Given the description of an element on the screen output the (x, y) to click on. 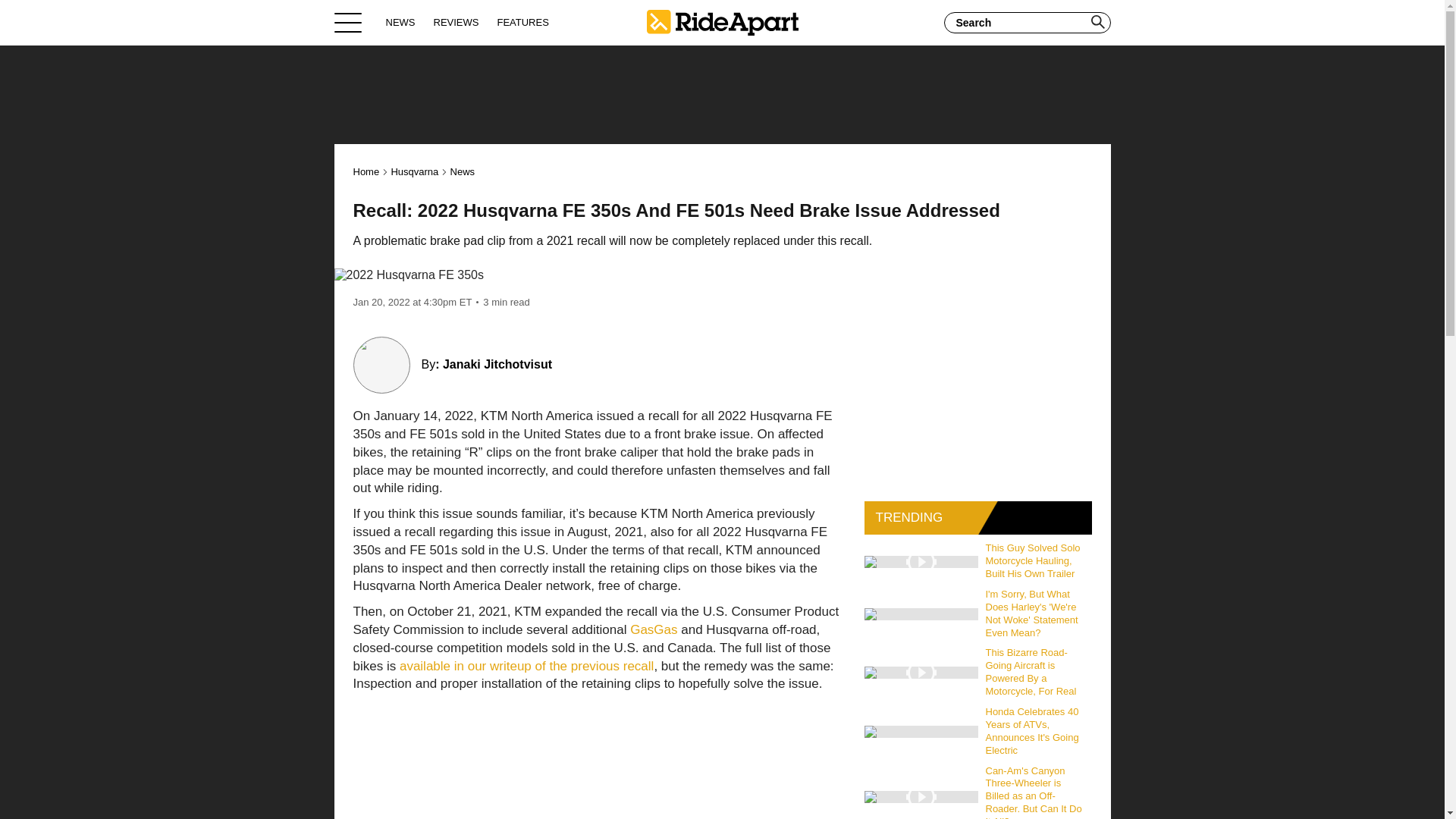
Janaki Jitchotvisut (496, 364)
Home (366, 171)
News (462, 171)
Home (721, 22)
REVIEWS (456, 22)
FEATURES (522, 22)
GasGas (653, 629)
Husqvarna (414, 171)
